Given the description of an element on the screen output the (x, y) to click on. 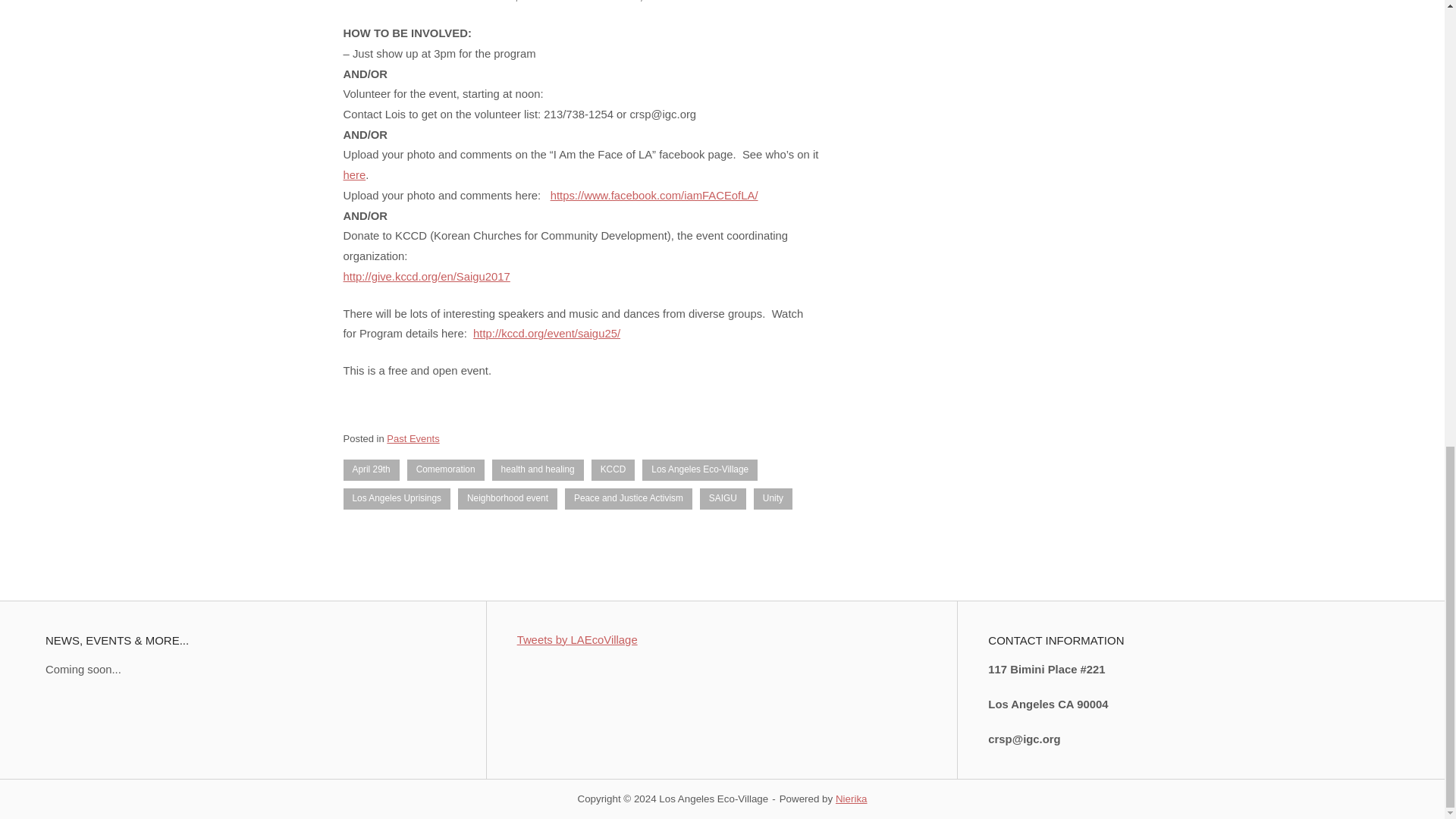
Past Events (413, 438)
April 29th (370, 469)
here (353, 174)
